Given the description of an element on the screen output the (x, y) to click on. 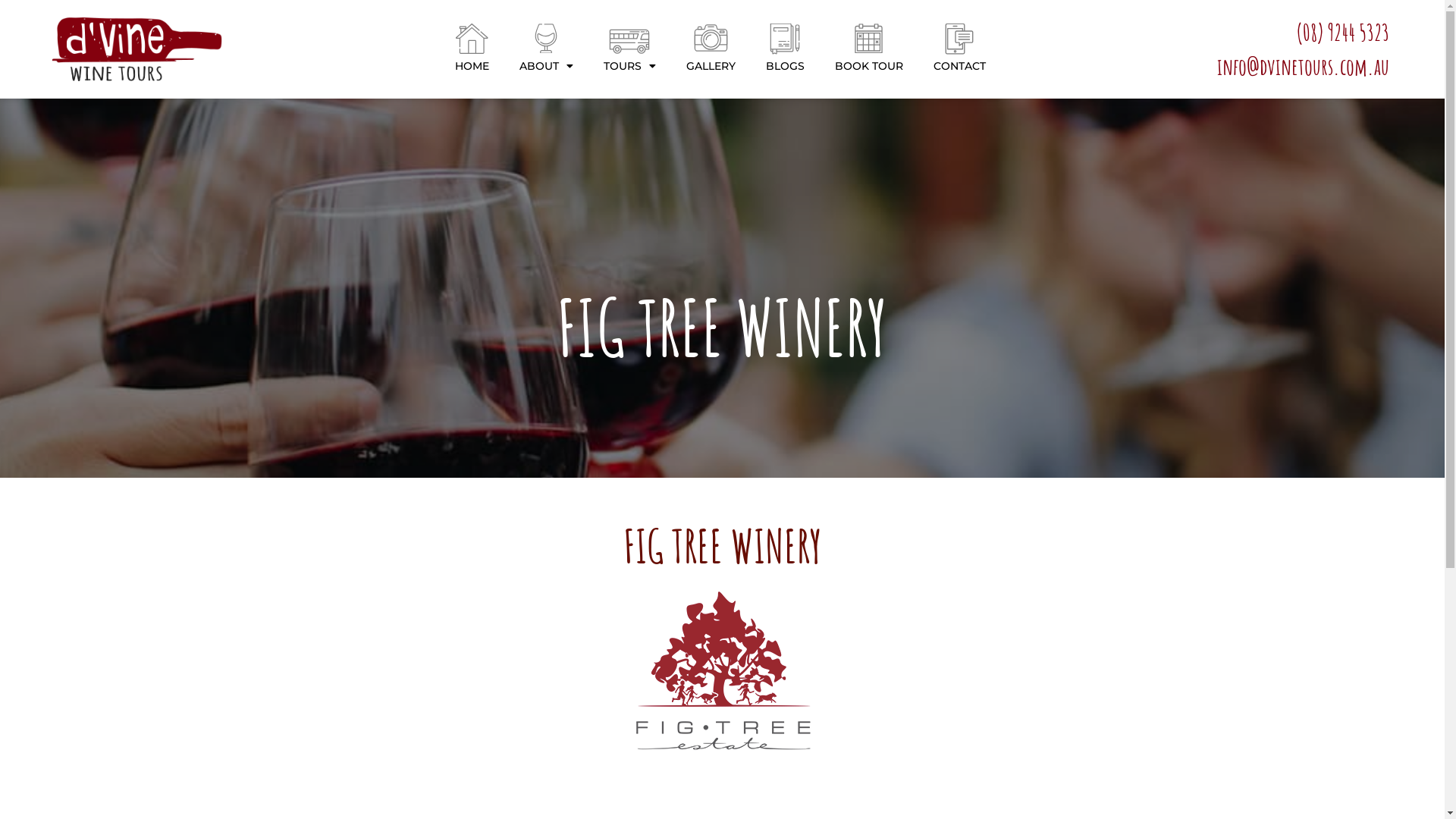
(08) 9244 5323 Element type: text (1254, 32)
ABOUT Element type: text (546, 65)
TOURS Element type: text (629, 65)
FIG TREE WINERY Element type: text (721, 327)
CONTACT Element type: text (959, 65)
GALLERY Element type: text (710, 65)
BOOK TOUR Element type: text (868, 65)
info@dvinetours.com.au Element type: text (1254, 66)
BLOGS Element type: text (784, 65)
HOME Element type: text (471, 65)
